Given the description of an element on the screen output the (x, y) to click on. 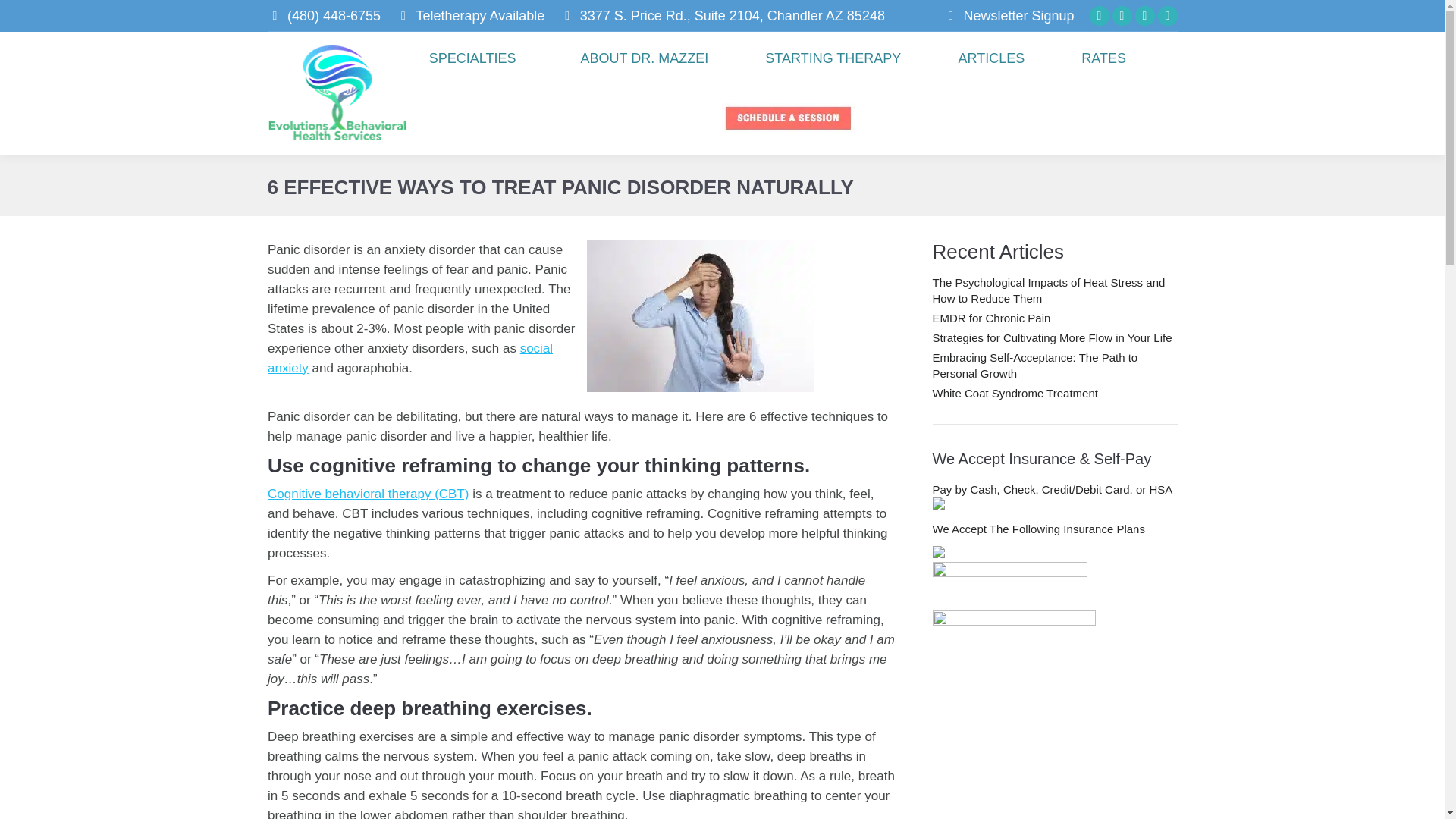
Newsletter Signup (1018, 15)
Linkedin page opens in new window (1122, 15)
Linkedin page opens in new window (1122, 15)
STARTING THERAPY (832, 57)
Facebook page opens in new window (1099, 15)
panic disorder treatment (699, 316)
Pinterest page opens in new window (1144, 15)
Pinterest page opens in new window (1144, 15)
Teletherapy Available (470, 15)
3377 S. Price Rd., Suite 2104, Chandler AZ 85248 (722, 15)
